Given the description of an element on the screen output the (x, y) to click on. 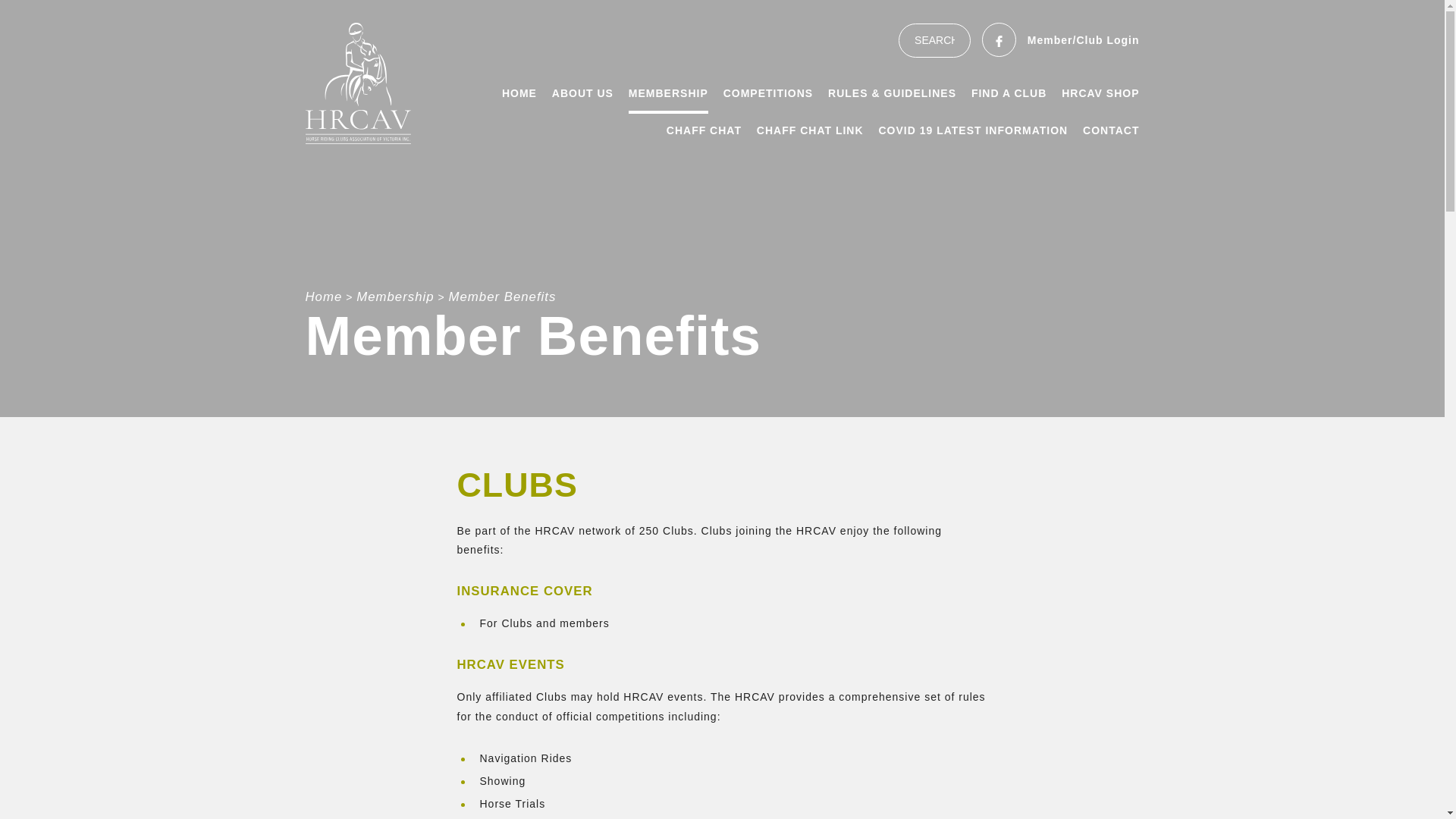
MEMBERSHIP Element type: text (668, 94)
CHAFF CHAT LINK Element type: text (809, 130)
Membership Element type: text (394, 296)
CONTACT Element type: text (1110, 130)
HOME Element type: text (519, 93)
CHAFF CHAT Element type: text (703, 130)
Home Element type: text (323, 296)
COMPETITIONS Element type: text (768, 93)
FIND A CLUB Element type: text (1008, 93)
Member Benefits Element type: text (502, 296)
COVID 19 LATEST INFORMATION Element type: text (972, 130)
HRCAV SHOP Element type: text (1100, 93)
Member/Club Login Element type: text (1083, 40)
RULES & GUIDELINES Element type: text (892, 93)
ABOUT US Element type: text (582, 93)
